Given the description of an element on the screen output the (x, y) to click on. 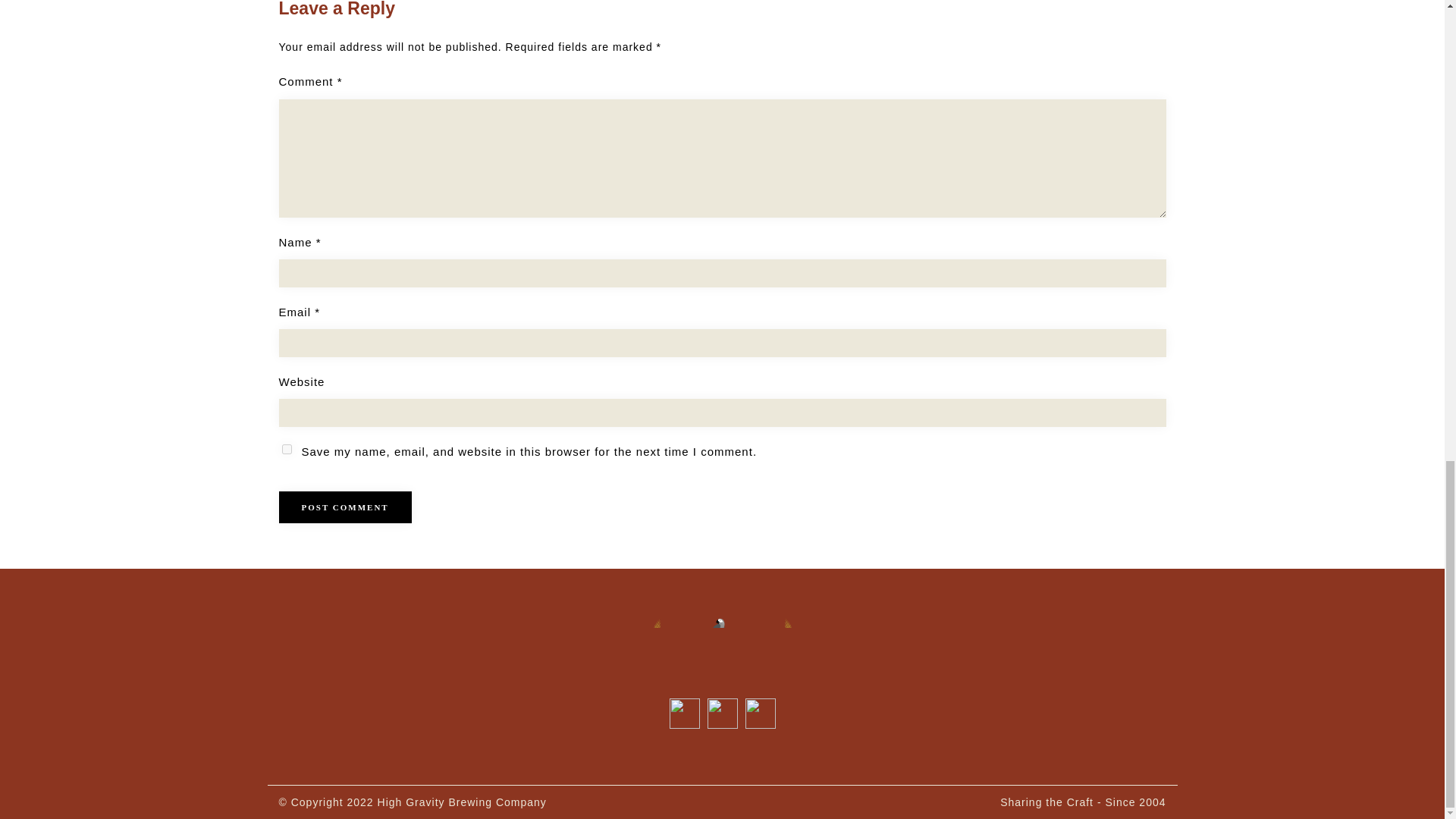
yes (287, 449)
Post Comment (345, 507)
Post Comment (345, 507)
